Given the description of an element on the screen output the (x, y) to click on. 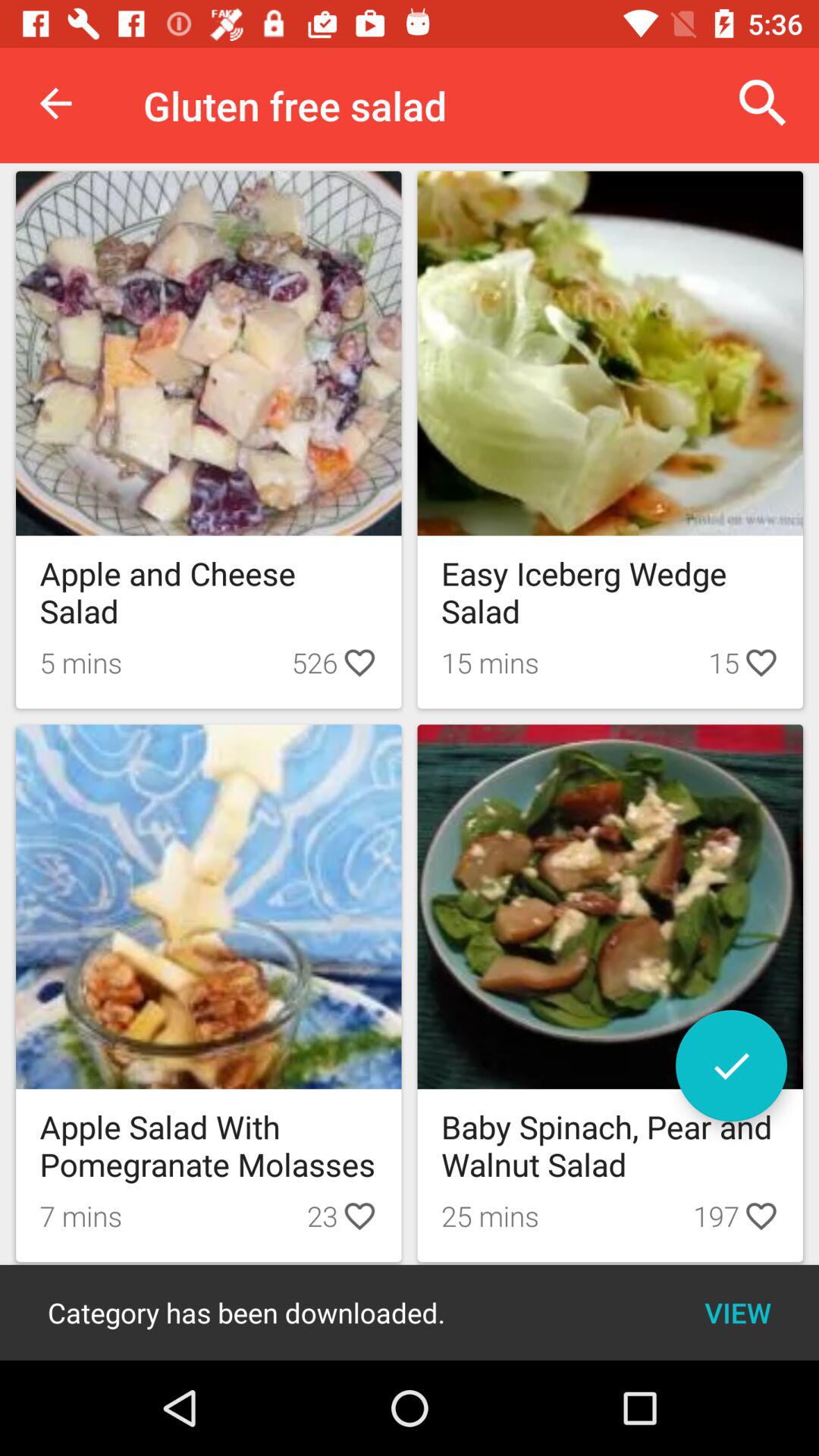
swipe until the view (737, 1312)
